Given the description of an element on the screen output the (x, y) to click on. 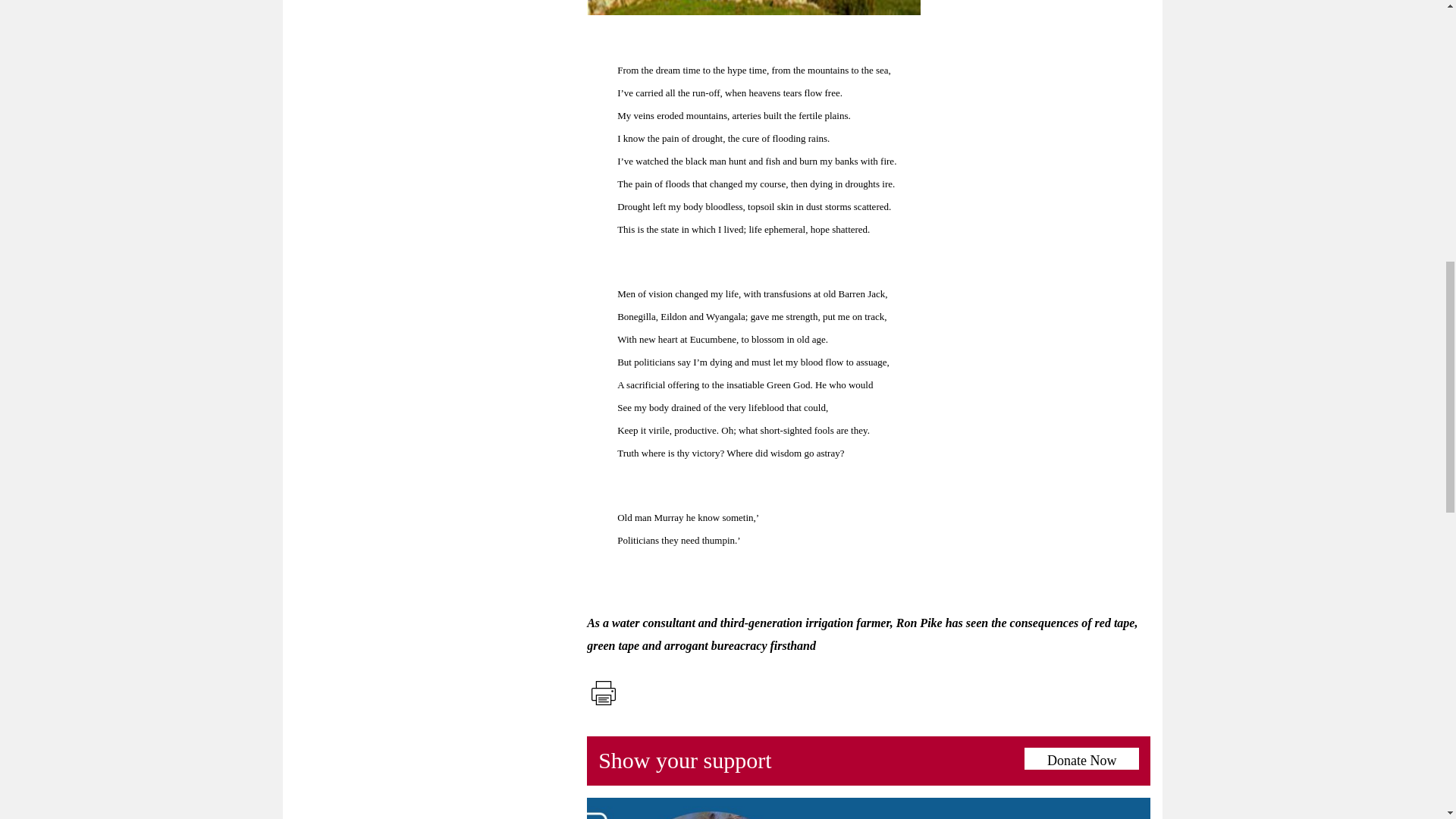
Print article (603, 692)
